Given the description of an element on the screen output the (x, y) to click on. 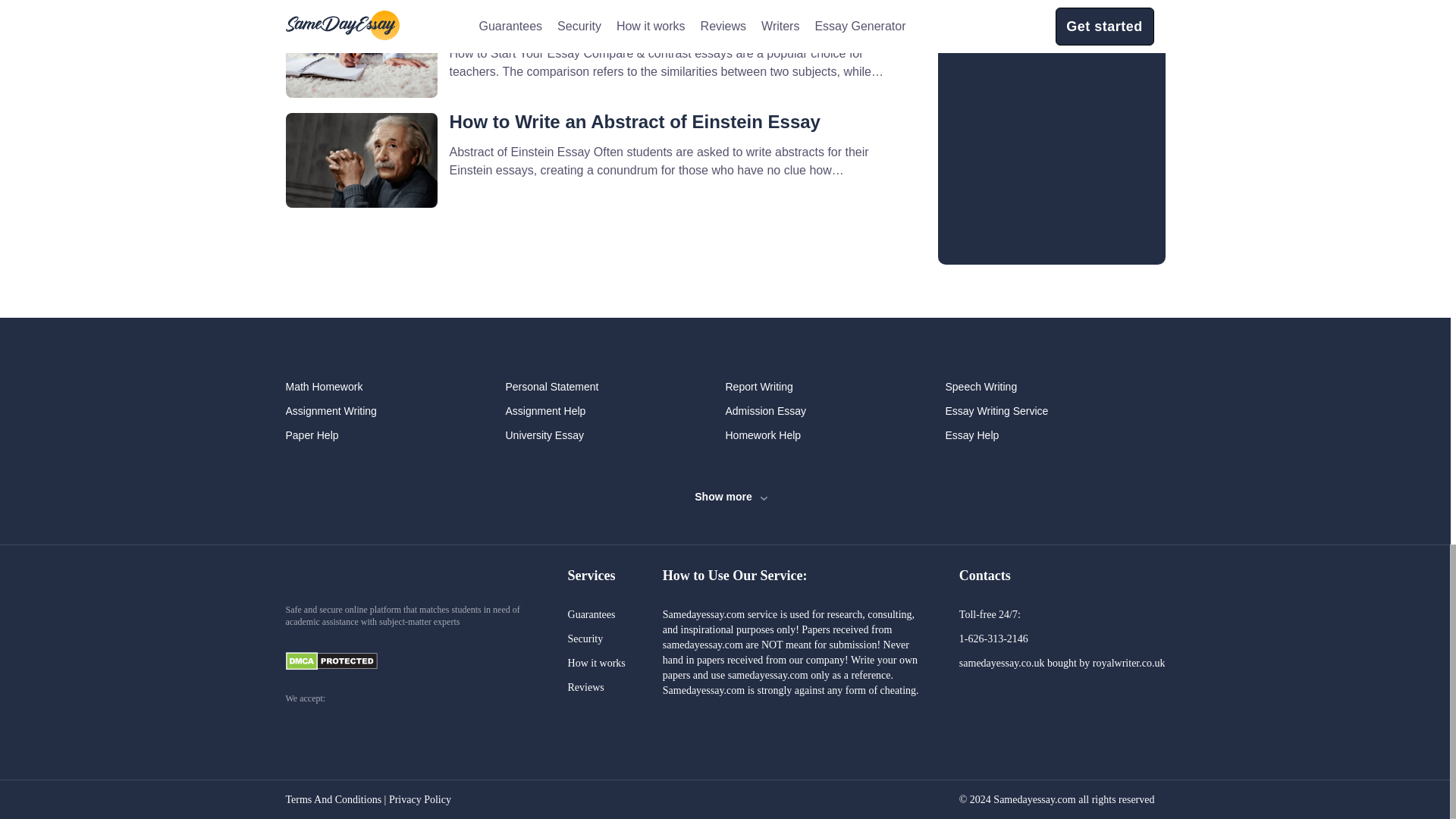
Report Writing (834, 386)
Essay Help (1054, 435)
University Essay (615, 435)
DMCA.com Protection Status (341, 661)
Personal Statement (615, 386)
Assignment Writing (395, 410)
Paper Help (395, 435)
Admission Essay (834, 410)
Essay Writing Service (1054, 410)
How to Write an Abstract of Einstein Essay (633, 121)
